Given the description of an element on the screen output the (x, y) to click on. 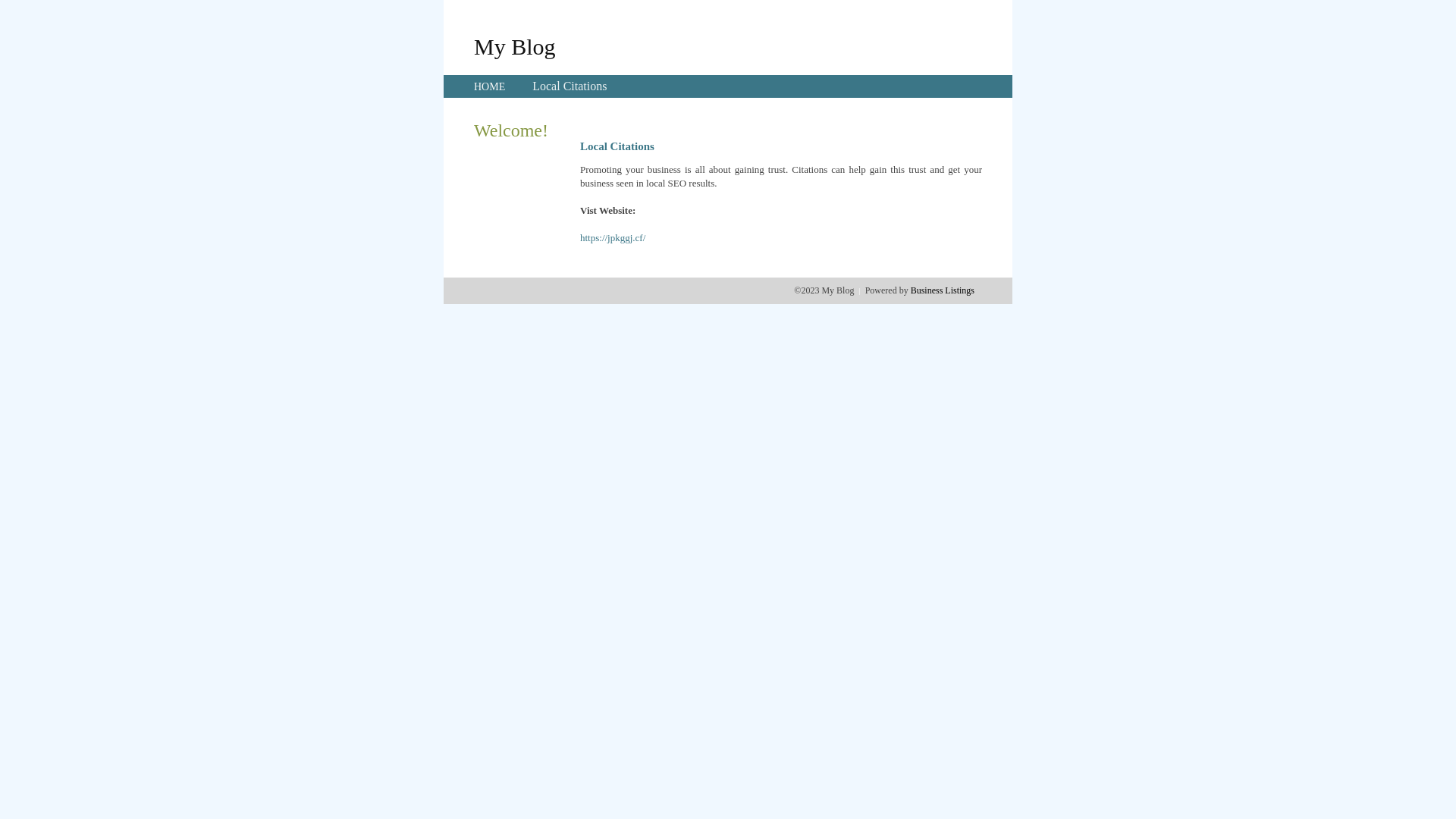
My Blog Element type: text (514, 46)
Business Listings Element type: text (942, 290)
Local Citations Element type: text (569, 85)
HOME Element type: text (489, 86)
https://jpkggj.cf/ Element type: text (612, 237)
